Given the description of an element on the screen output the (x, y) to click on. 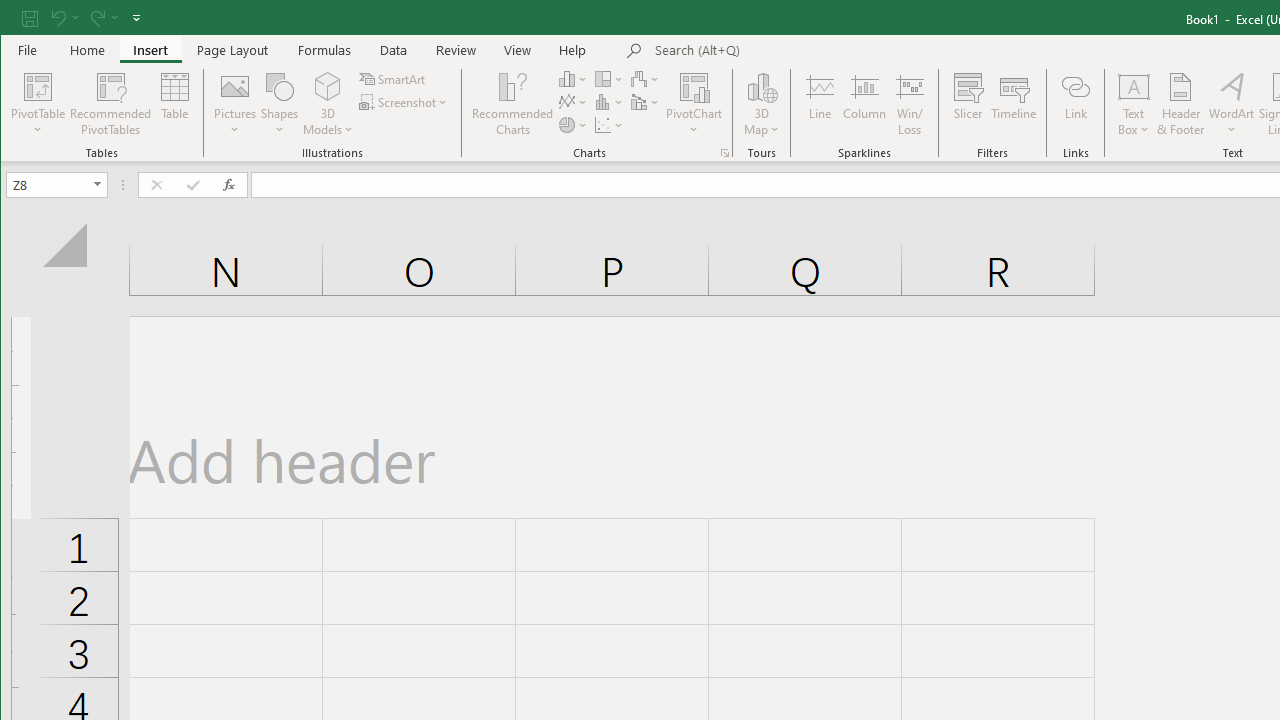
WordArt (1231, 104)
Insert Column or Bar Chart (573, 78)
Win/Loss (909, 104)
Table (174, 104)
Slicer... (968, 104)
Recommended Charts (724, 152)
Line (819, 104)
3D Map (762, 104)
Text Box (1133, 104)
3D Models (327, 104)
